Given the description of an element on the screen output the (x, y) to click on. 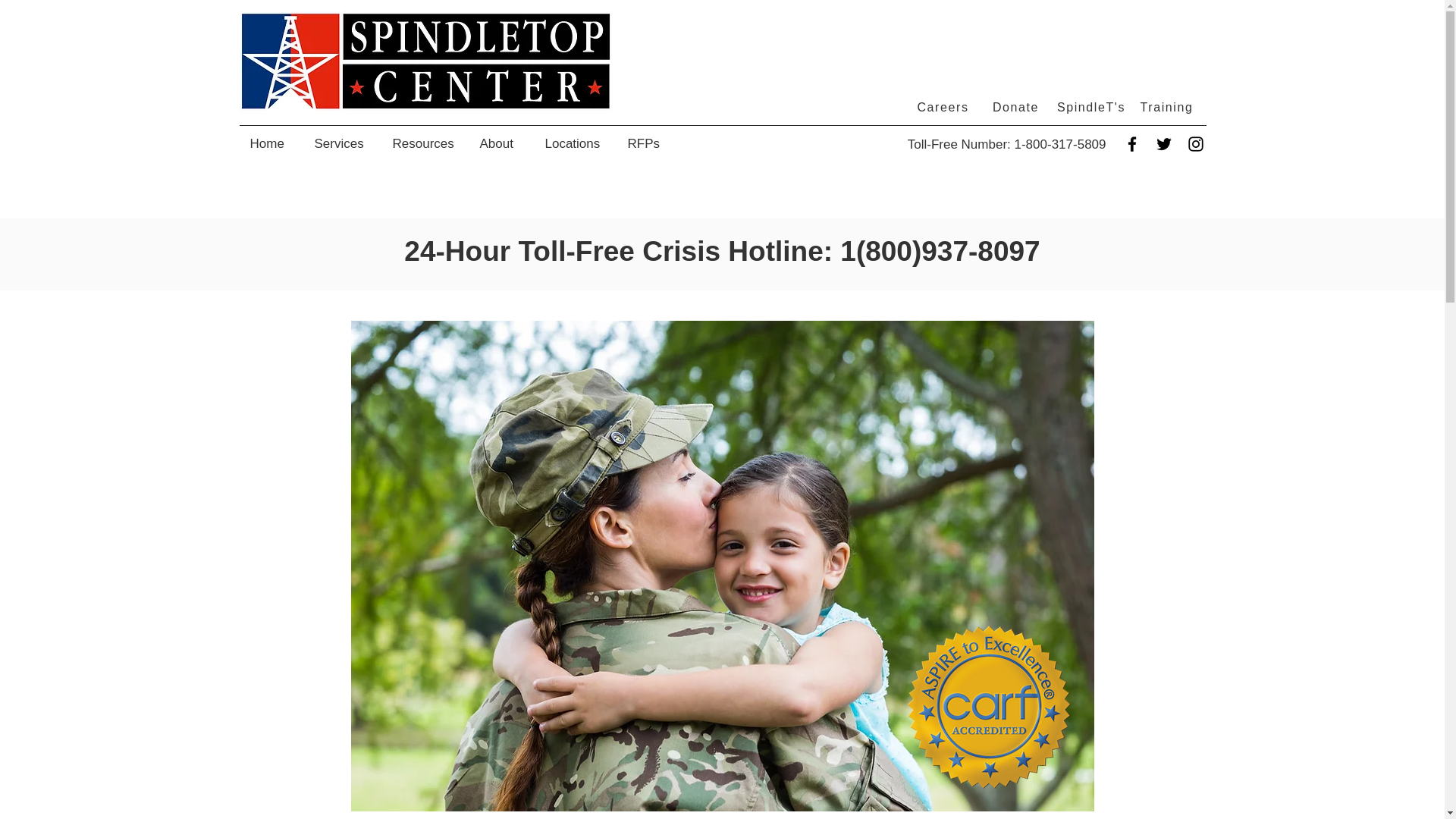
RFPs (642, 143)
Careers (944, 107)
Home (270, 143)
Locations (574, 143)
SpindleT's (1092, 107)
Donate (1016, 107)
Training (1167, 107)
